Given the description of an element on the screen output the (x, y) to click on. 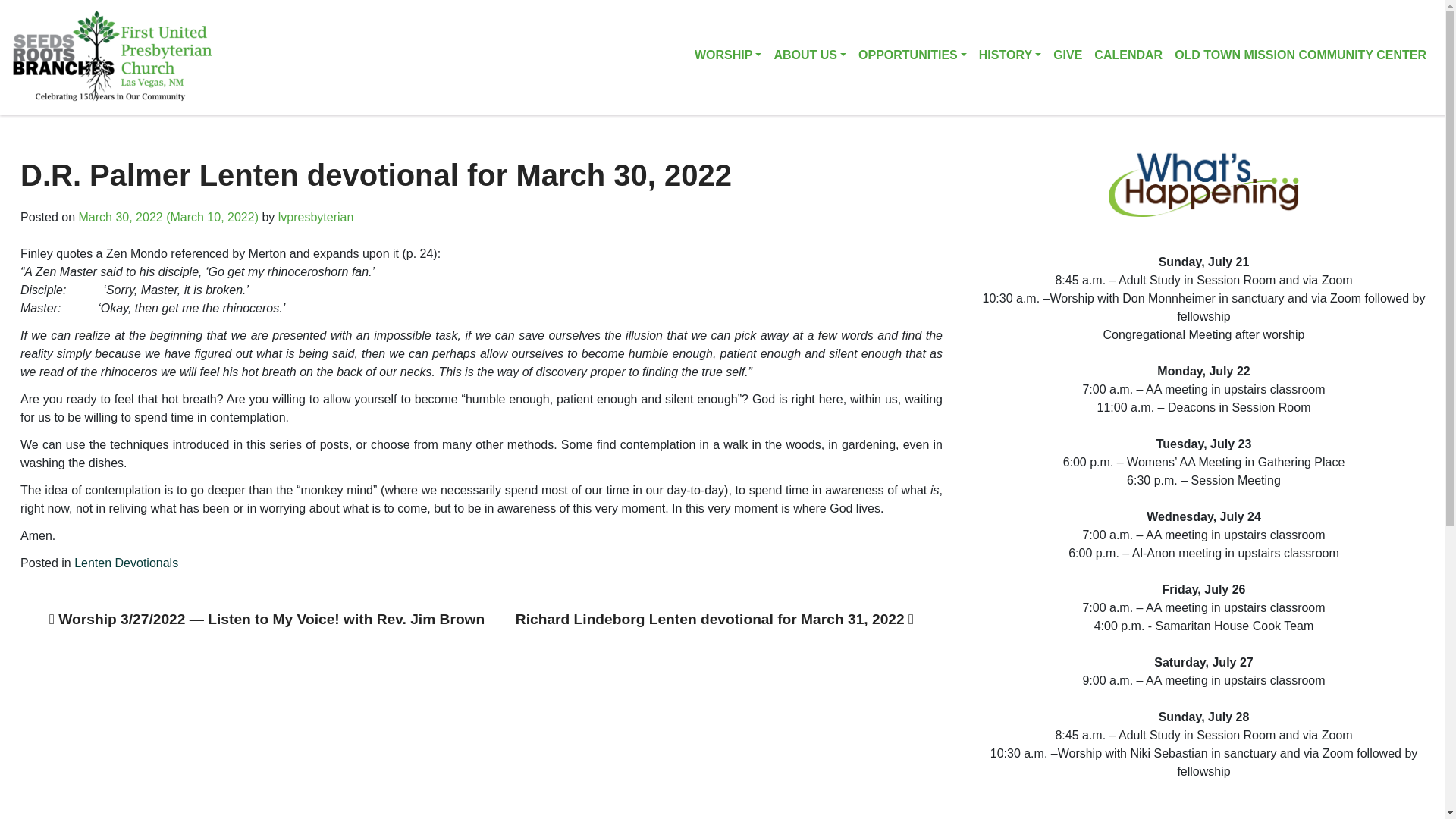
Worship (727, 59)
About Us (809, 59)
Lenten Devotionals (125, 562)
Opportunities (912, 59)
Richard Lindeborg Lenten devotional for March 31, 2022  (714, 618)
ABOUT US (809, 59)
CALENDAR (1127, 59)
lvpresbyterian (315, 216)
OLD TOWN MISSION COMMUNITY CENTER (1300, 59)
D.R. Palmer Lenten devotional for March 30, 2022 (376, 174)
OPPORTUNITIES (912, 59)
GIVE (1066, 59)
WORSHIP (727, 59)
HISTORY (1009, 59)
